Given the description of an element on the screen output the (x, y) to click on. 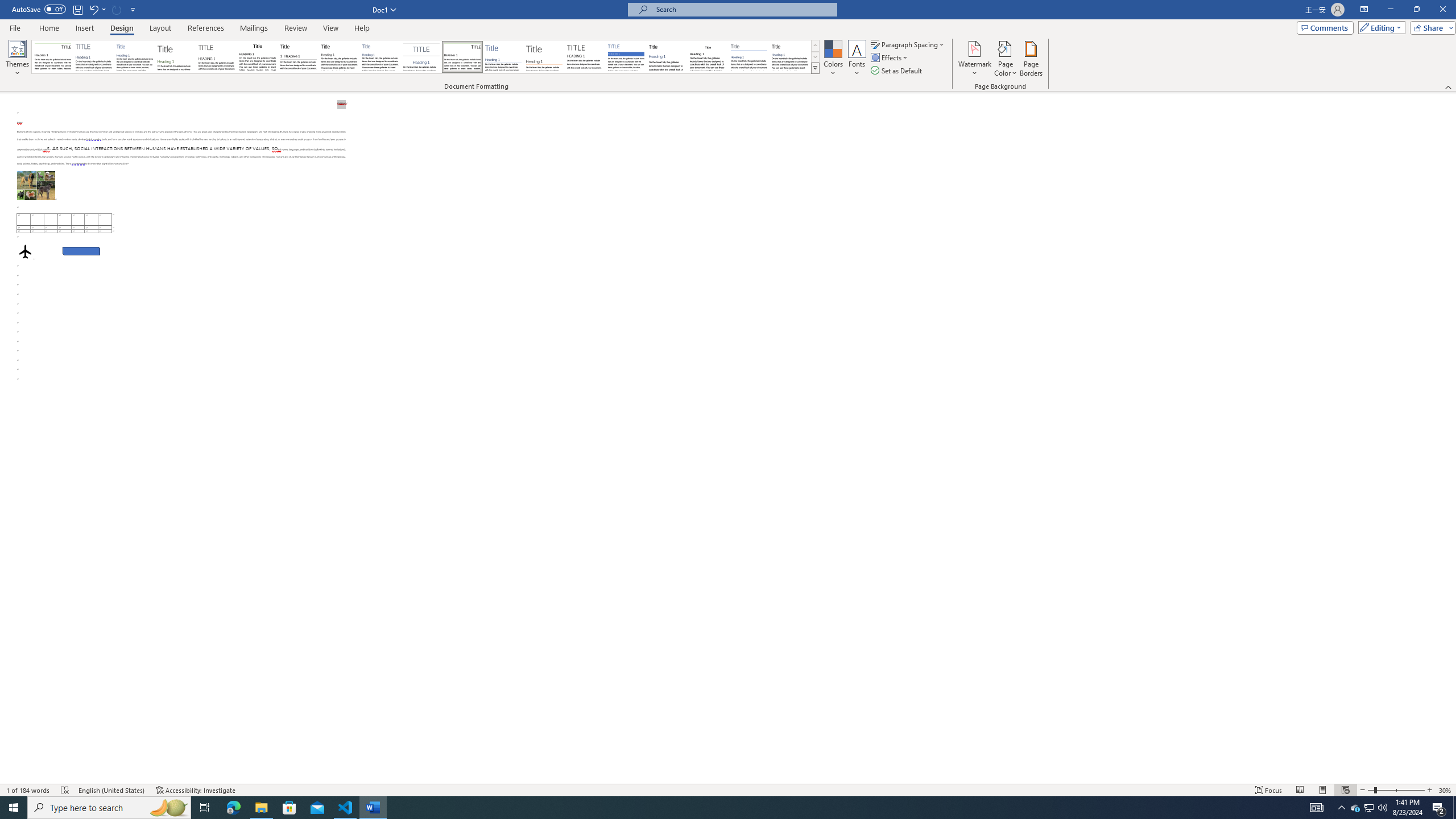
Lines (Stylish) (544, 56)
Black & White (Word 2013) (338, 56)
Page Borders... (1031, 58)
Fonts (856, 58)
Zoom 30% (1445, 790)
Lines (Distinctive) (462, 56)
Page Color (1005, 58)
Themes (17, 58)
Minimalist (584, 56)
